Given the description of an element on the screen output the (x, y) to click on. 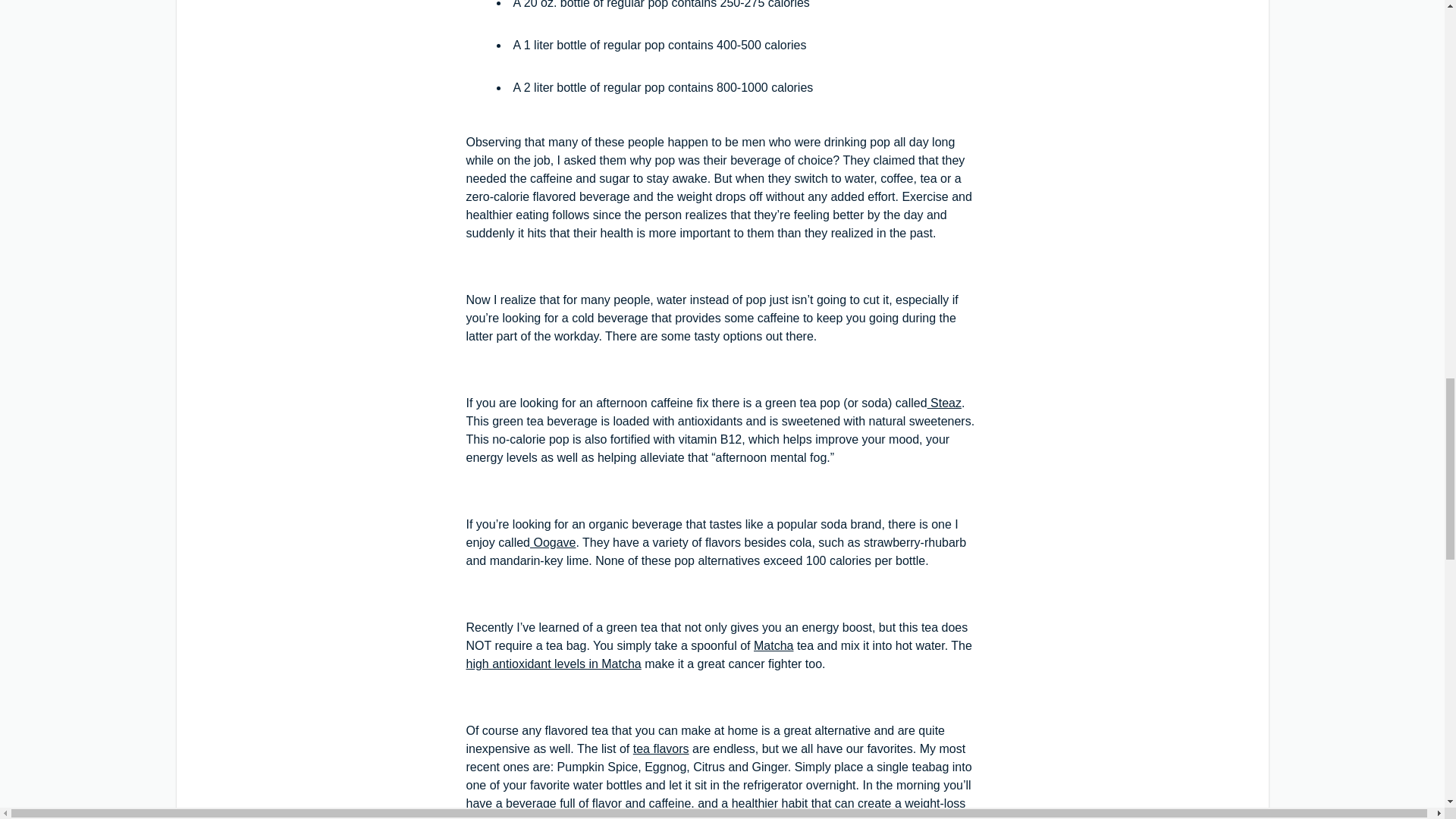
Steaz (943, 402)
a healthier habit (762, 802)
high antioxidant levels in Matcha (552, 663)
tea flavors (660, 748)
Oogave (552, 542)
Matcha (773, 645)
